Given the description of an element on the screen output the (x, y) to click on. 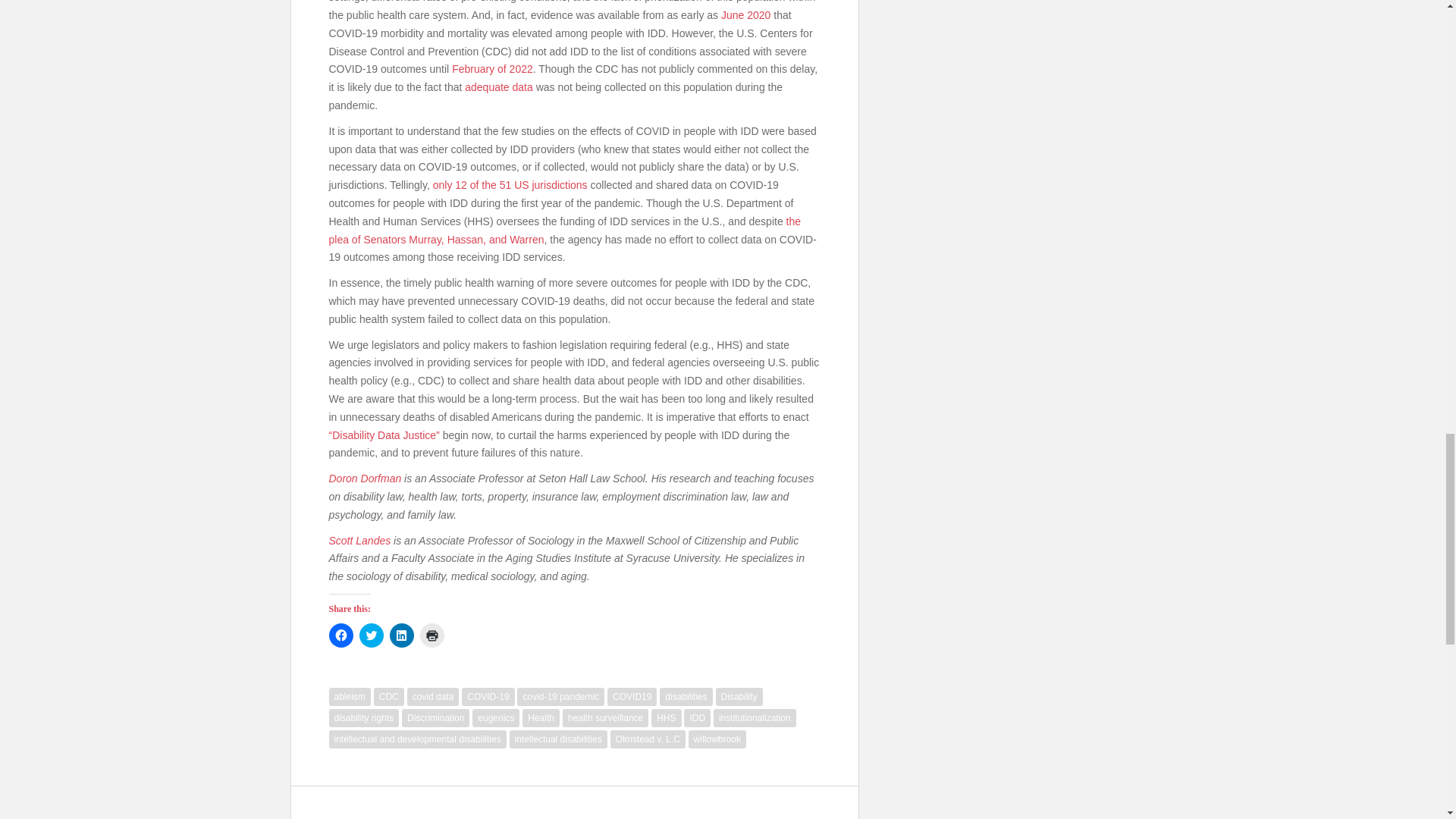
Click to print (432, 635)
Click to share on Twitter (371, 635)
Click to share on Facebook (341, 635)
Click to share on LinkedIn (401, 635)
